Given the description of an element on the screen output the (x, y) to click on. 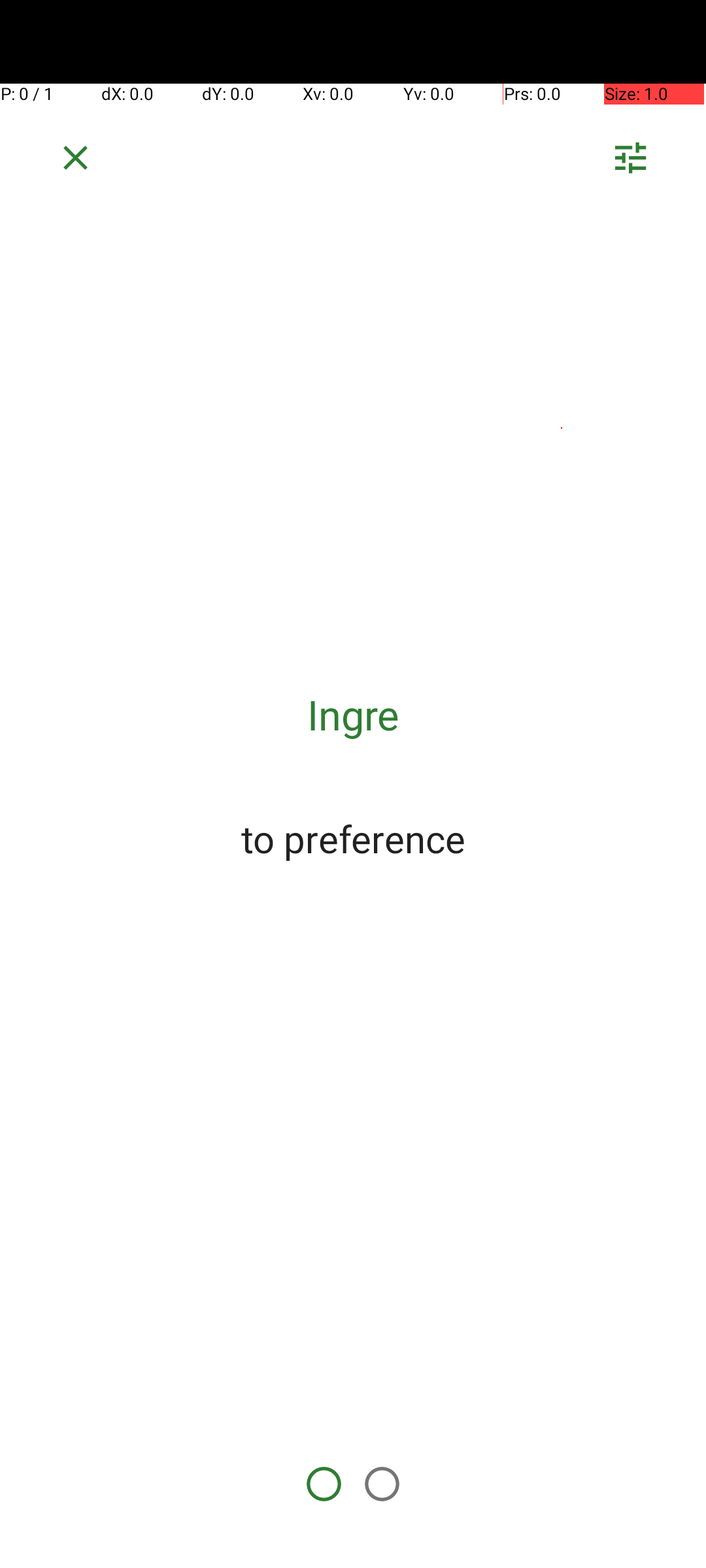
to preference Element type: android.widget.TextView (353, 838)
